Given the description of an element on the screen output the (x, y) to click on. 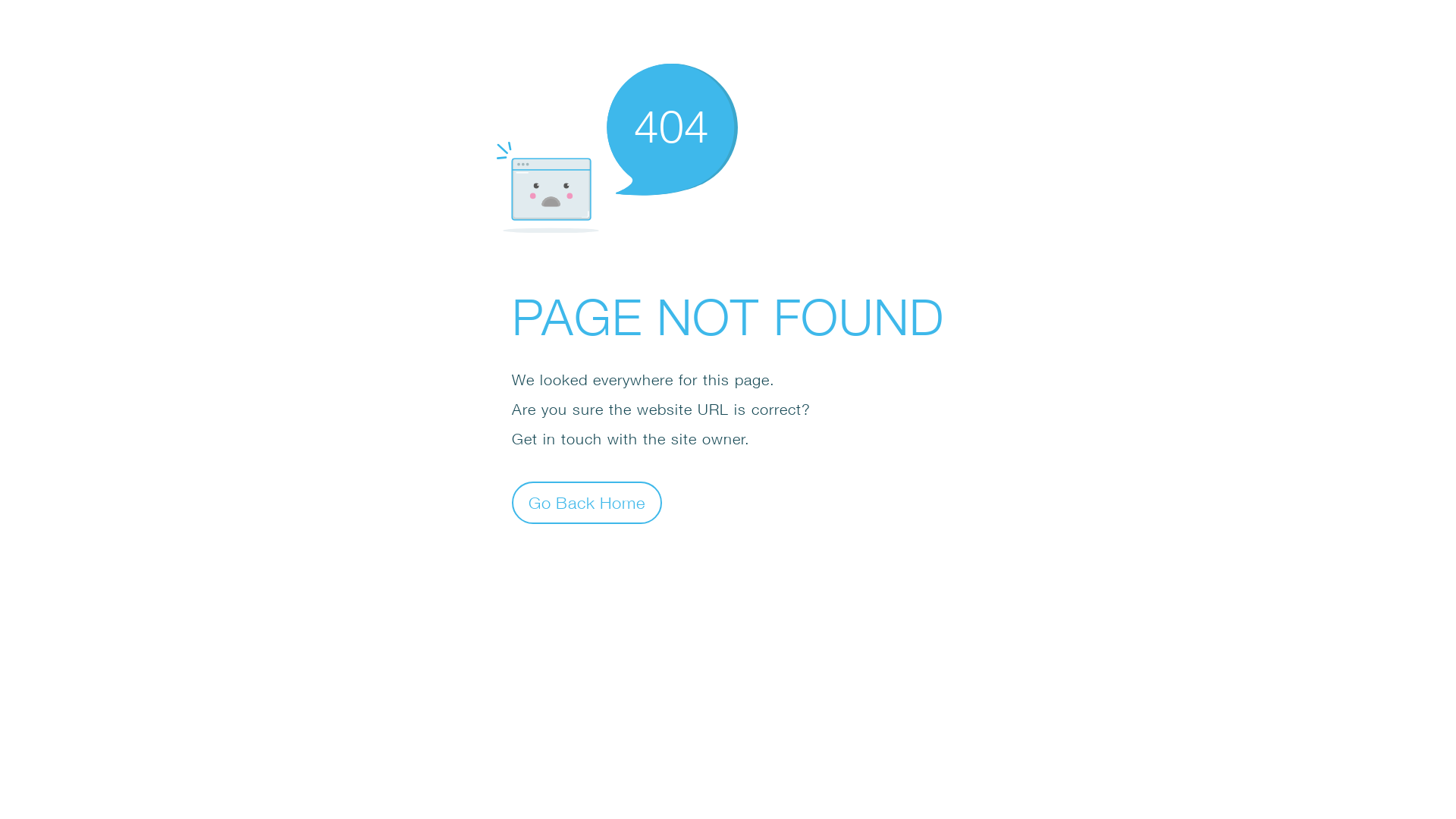
Go Back Home Element type: text (586, 502)
